Given the description of an element on the screen output the (x, y) to click on. 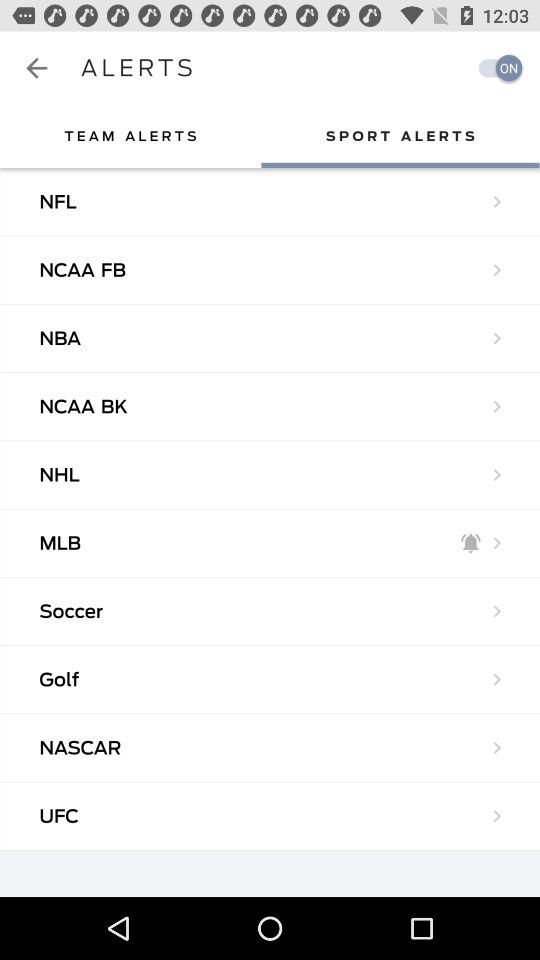
click app to the left of alerts icon (36, 68)
